Given the description of an element on the screen output the (x, y) to click on. 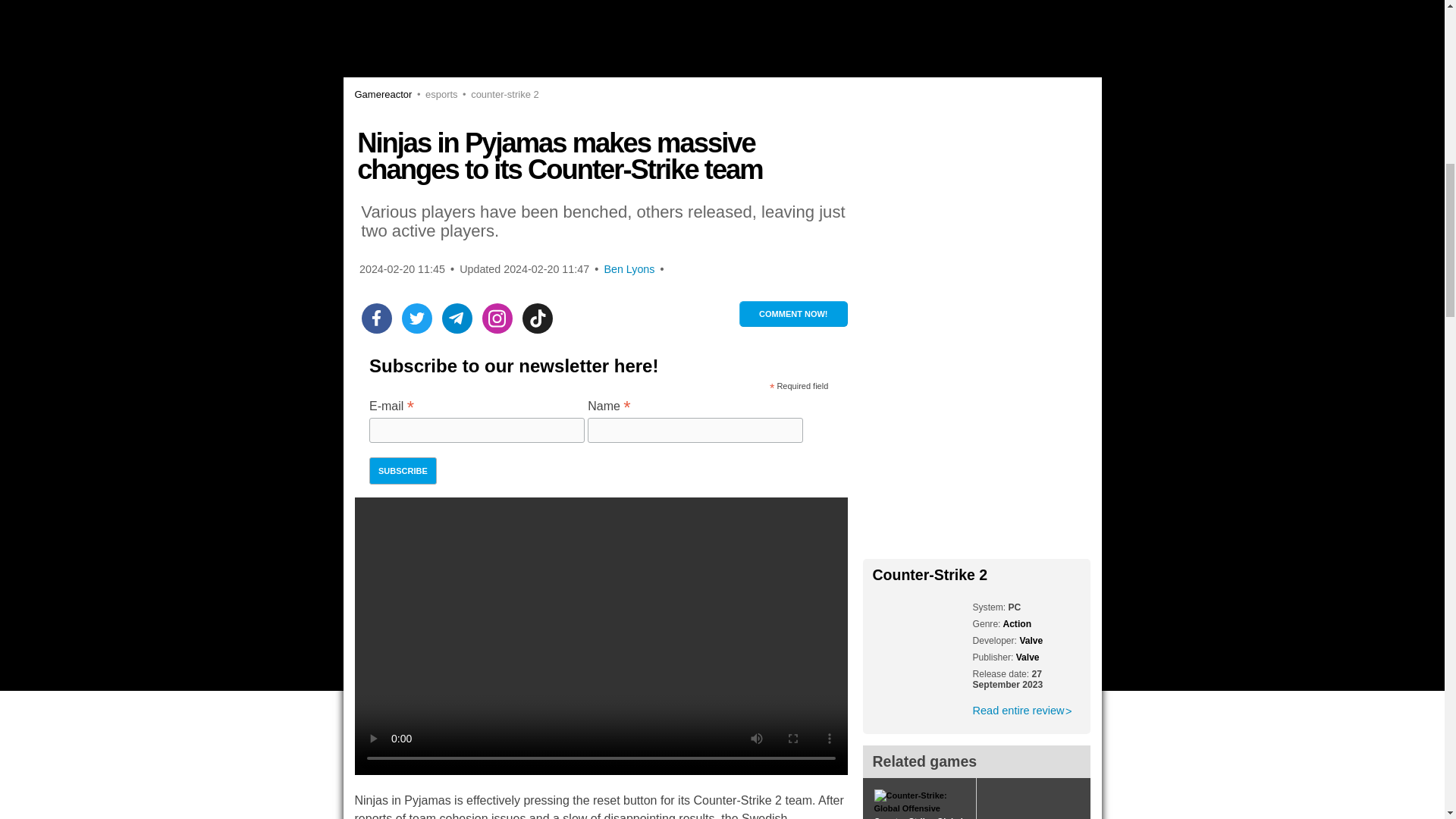
Gamereactor esports (434, 93)
Counter-Strike 2 (498, 93)
Subscribe (402, 470)
Gamereactor (383, 93)
